Given the description of an element on the screen output the (x, y) to click on. 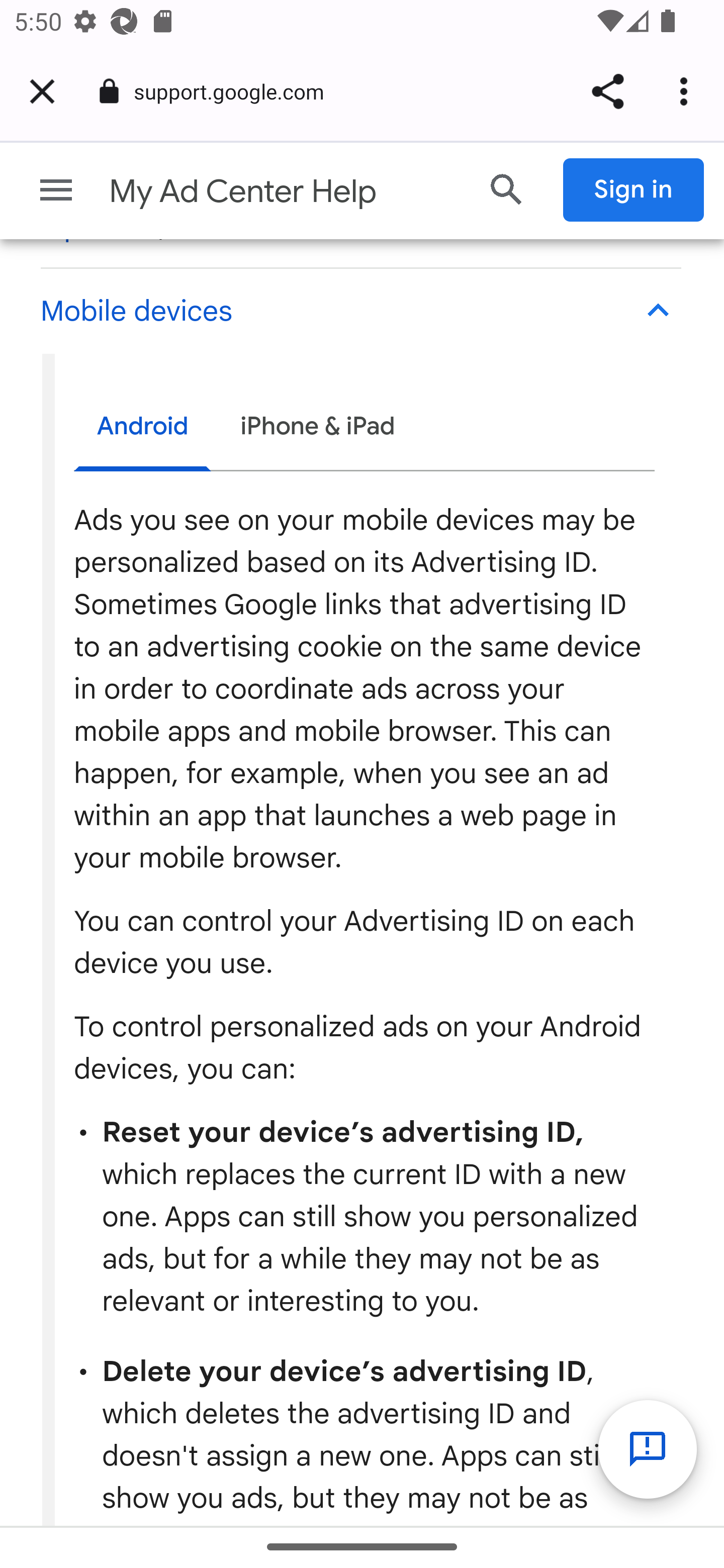
Close tab (42, 91)
Share (607, 91)
More options (687, 91)
Connection is secure (108, 91)
support.google.com (235, 90)
Main menu (56, 189)
My Ad Center Help (285, 191)
Search Help Center (506, 189)
Sign in (634, 189)
Mobile devices (360, 311)
Android (142, 428)
iPhone & iPad (317, 426)
